Given the description of an element on the screen output the (x, y) to click on. 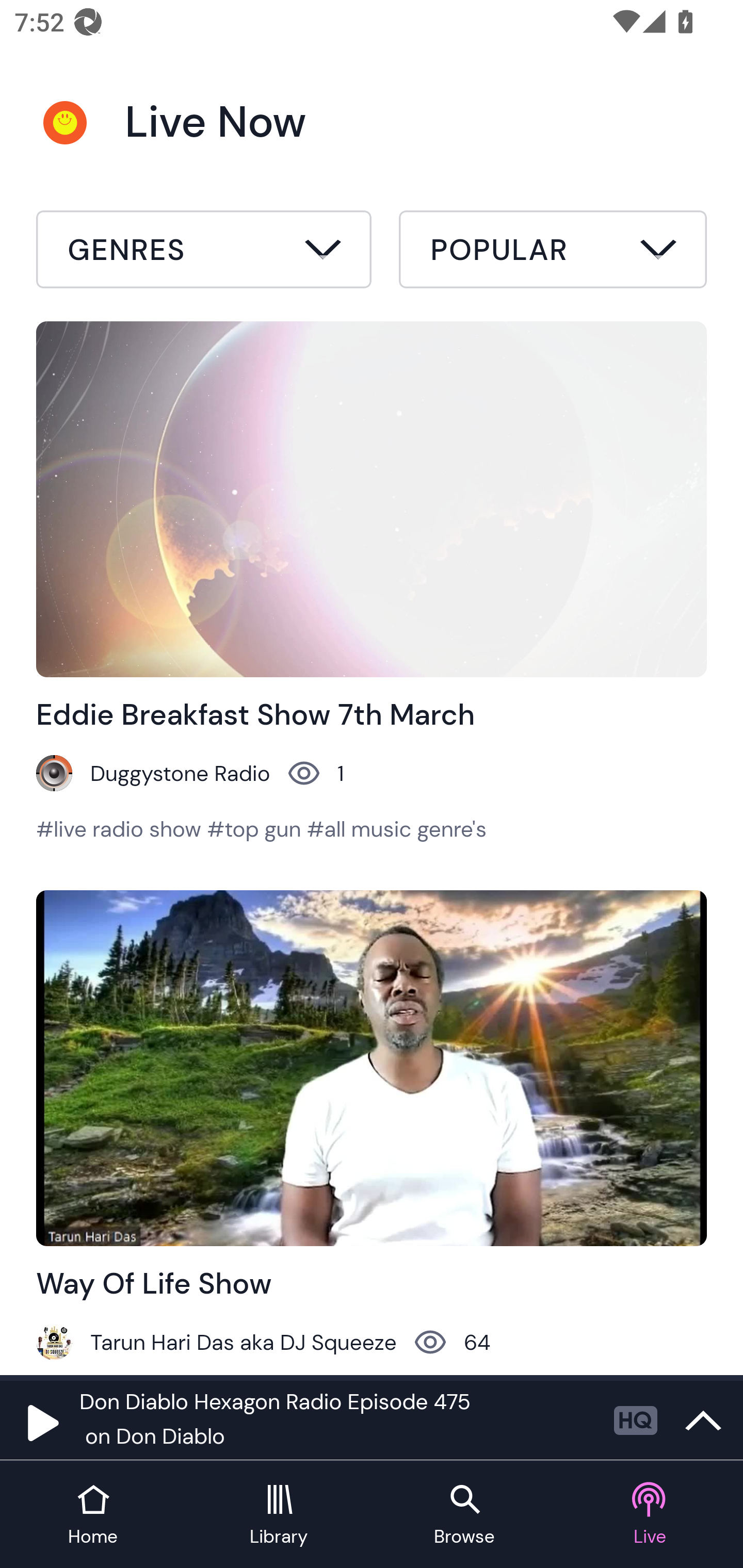
Filter by button All (203, 252)
Sort by button Popular (552, 252)
Home tab Home (92, 1515)
Library tab Library (278, 1515)
Browse tab Browse (464, 1515)
Live tab Live (650, 1515)
